Given the description of an element on the screen output the (x, y) to click on. 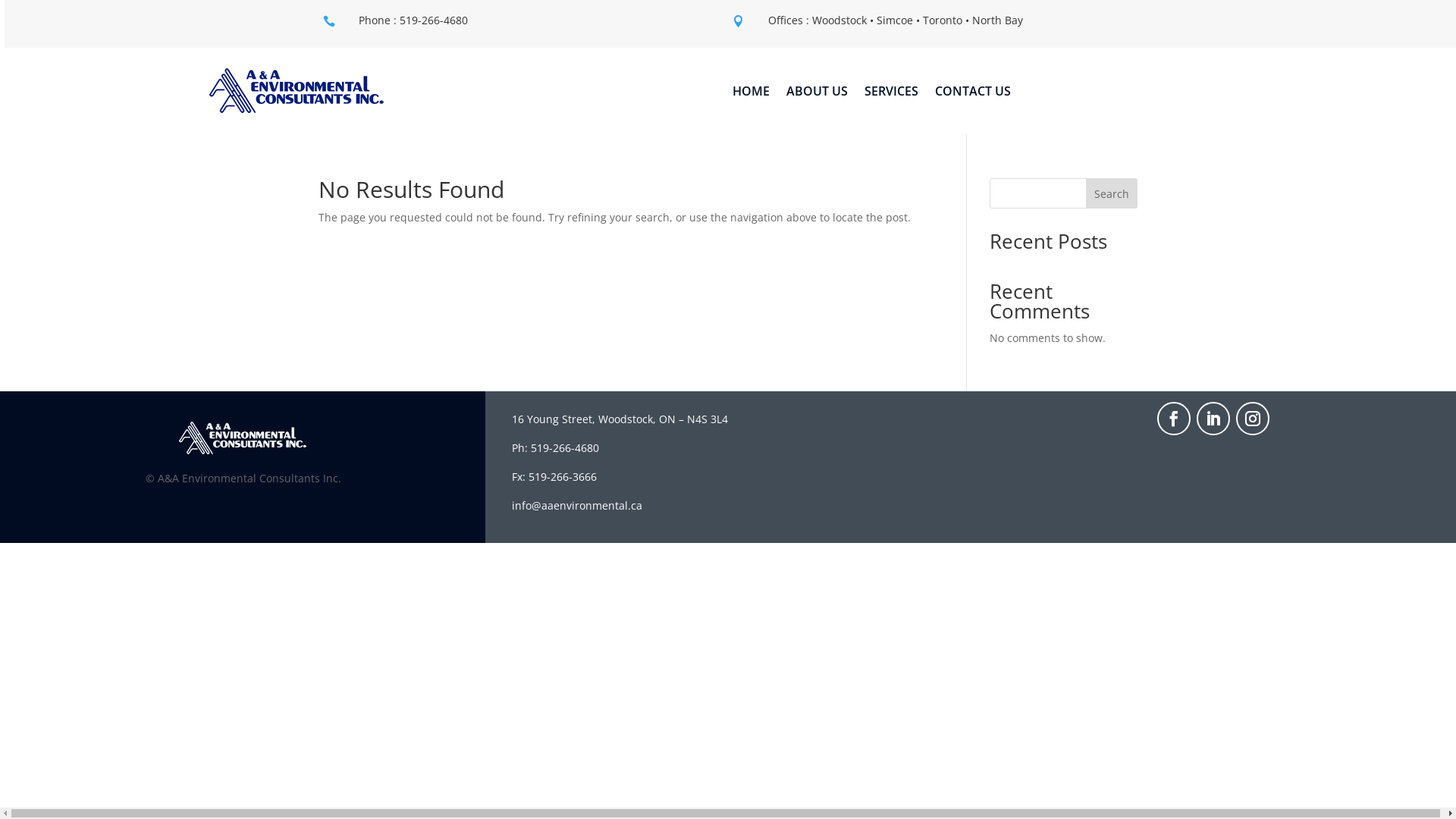
ABOUT US Element type: text (816, 93)
info@aaenvironmental.ca Element type: text (576, 505)
logo Element type: hover (296, 90)
logo-res Element type: hover (242, 437)
SERVICES Element type: text (891, 93)
Follow on LinkedIn Element type: hover (1213, 418)
HOME Element type: text (750, 93)
CONTACT US Element type: text (972, 93)
Follow on Facebook Element type: hover (1173, 418)
Follow on Instagram Element type: hover (1252, 418)
Search Element type: text (1111, 193)
